Given the description of an element on the screen output the (x, y) to click on. 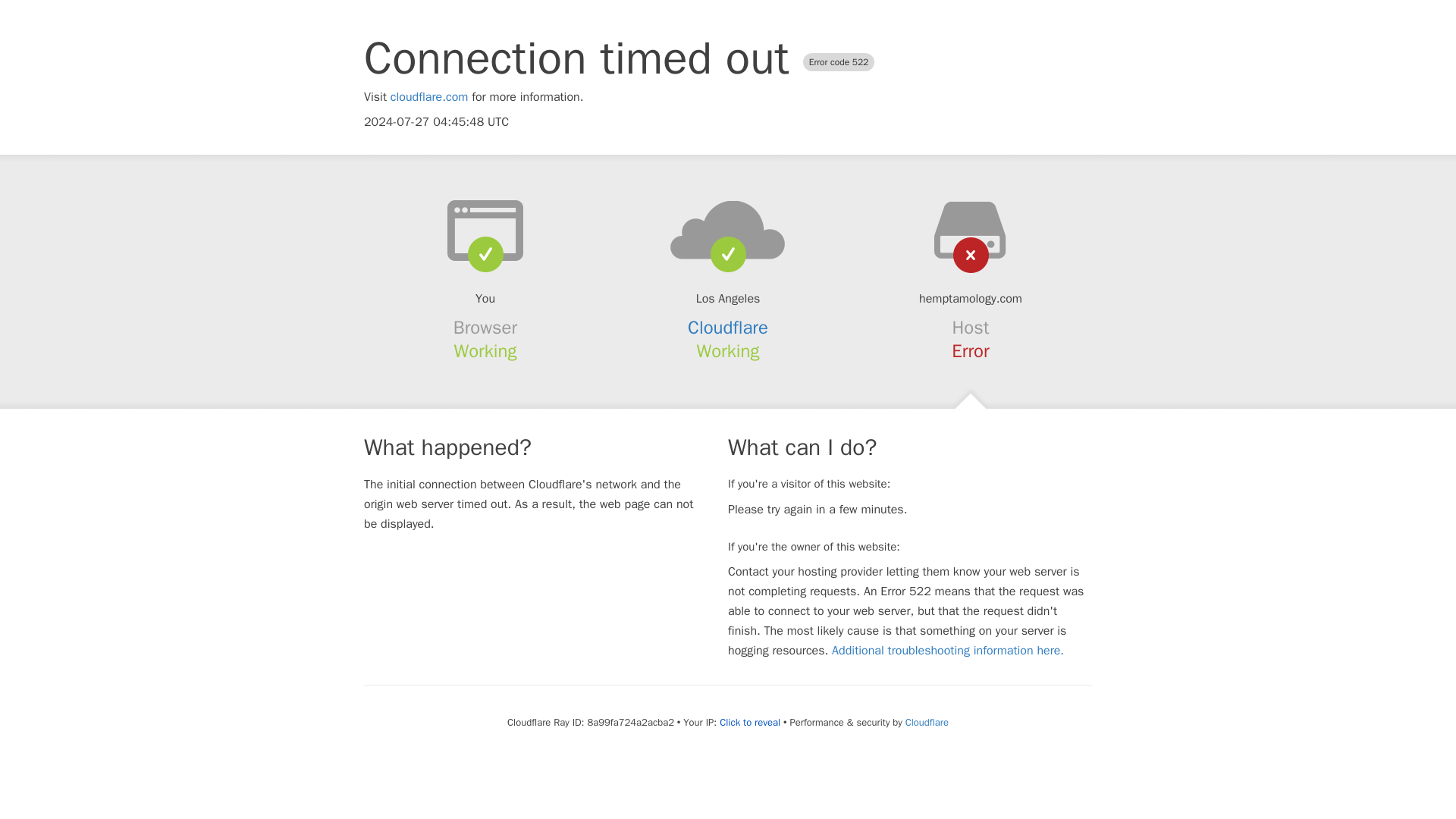
Cloudflare (727, 327)
cloudflare.com (429, 96)
Click to reveal (749, 722)
Cloudflare (927, 721)
Additional troubleshooting information here. (947, 650)
